Given the description of an element on the screen output the (x, y) to click on. 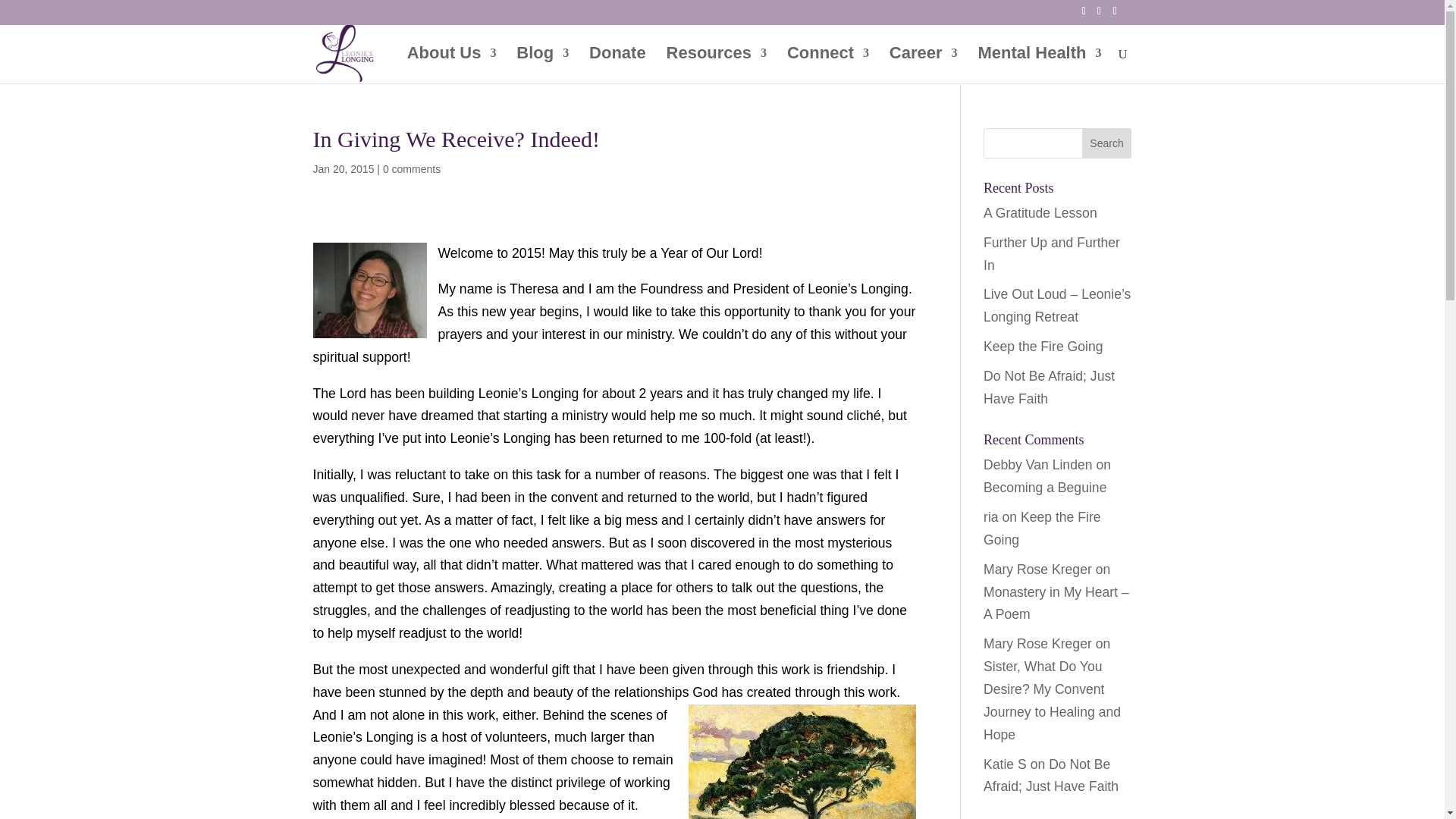
Search (1106, 142)
Donate (617, 65)
Connect (828, 65)
About Us (451, 65)
Mental Health (1038, 65)
Career (923, 65)
Resources (716, 65)
Blog (542, 65)
